Given the description of an element on the screen output the (x, y) to click on. 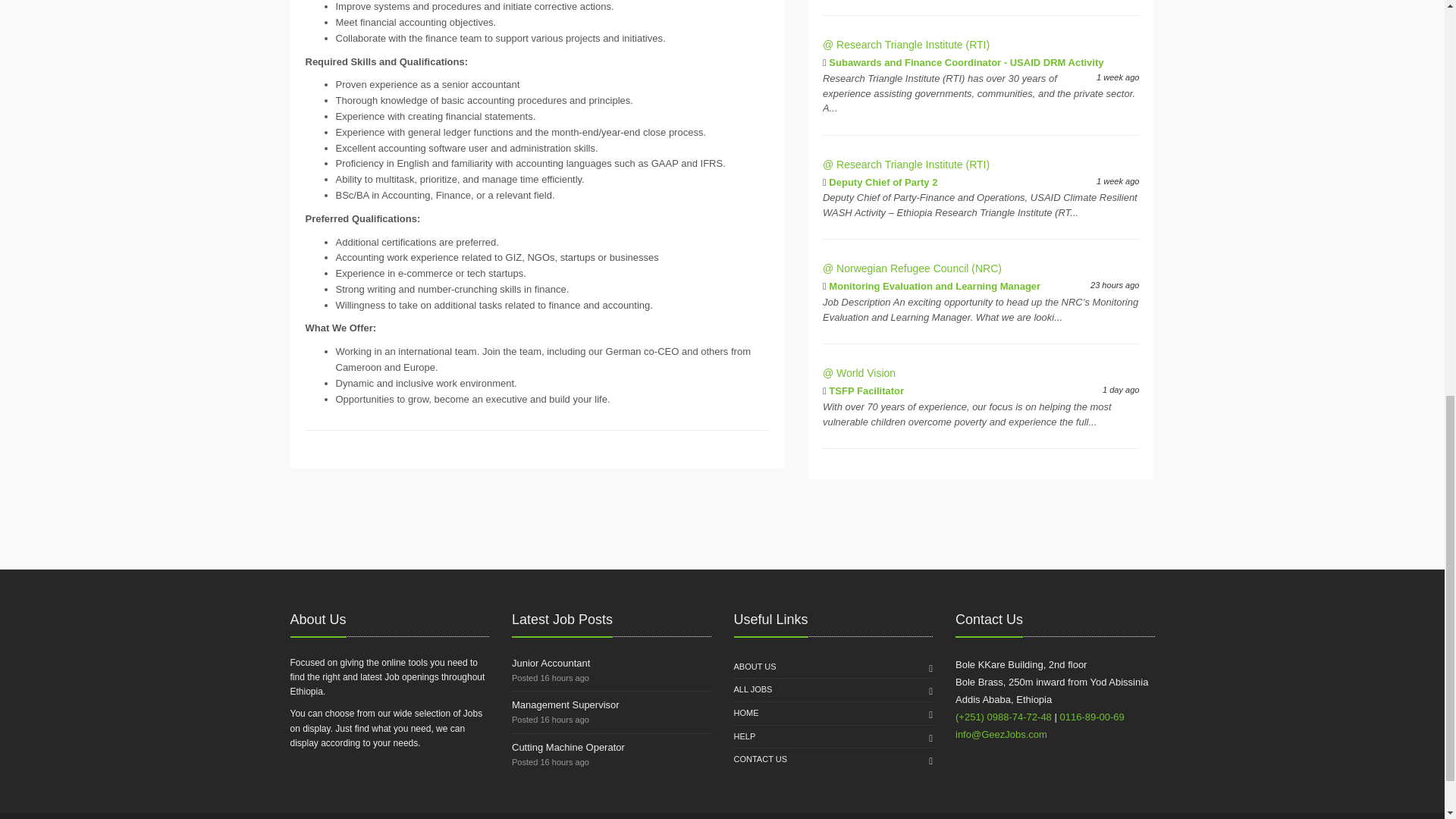
Deputy Chief of Party 2 (882, 182)
TSFP Facilitator (866, 390)
Monitoring Evaluation and Learning Manager (934, 285)
Subawards and Finance Coordinator - USAID DRM Activity (965, 61)
